Given the description of an element on the screen output the (x, y) to click on. 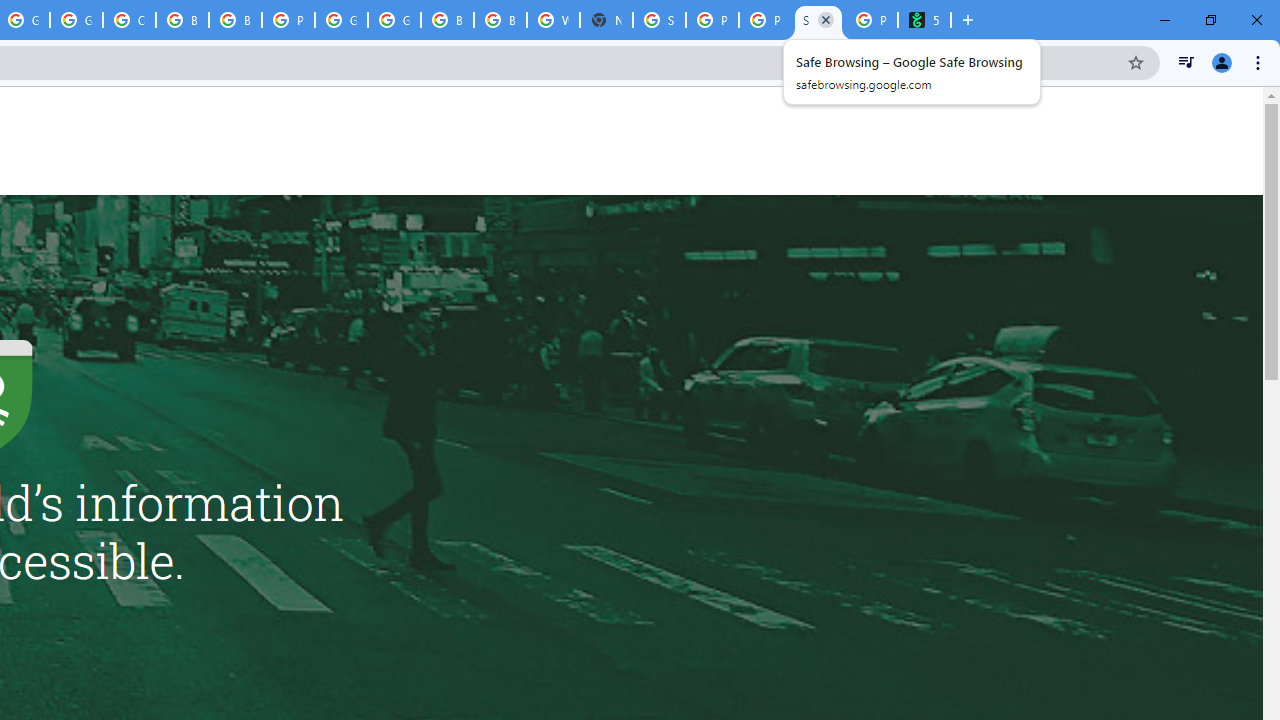
New Tab (606, 20)
Sign in - Google Accounts (659, 20)
Browse Chrome as a guest - Computer - Google Chrome Help (447, 20)
Google Cloud Platform (341, 20)
Google Cloud Platform (394, 20)
